Given the description of an element on the screen output the (x, y) to click on. 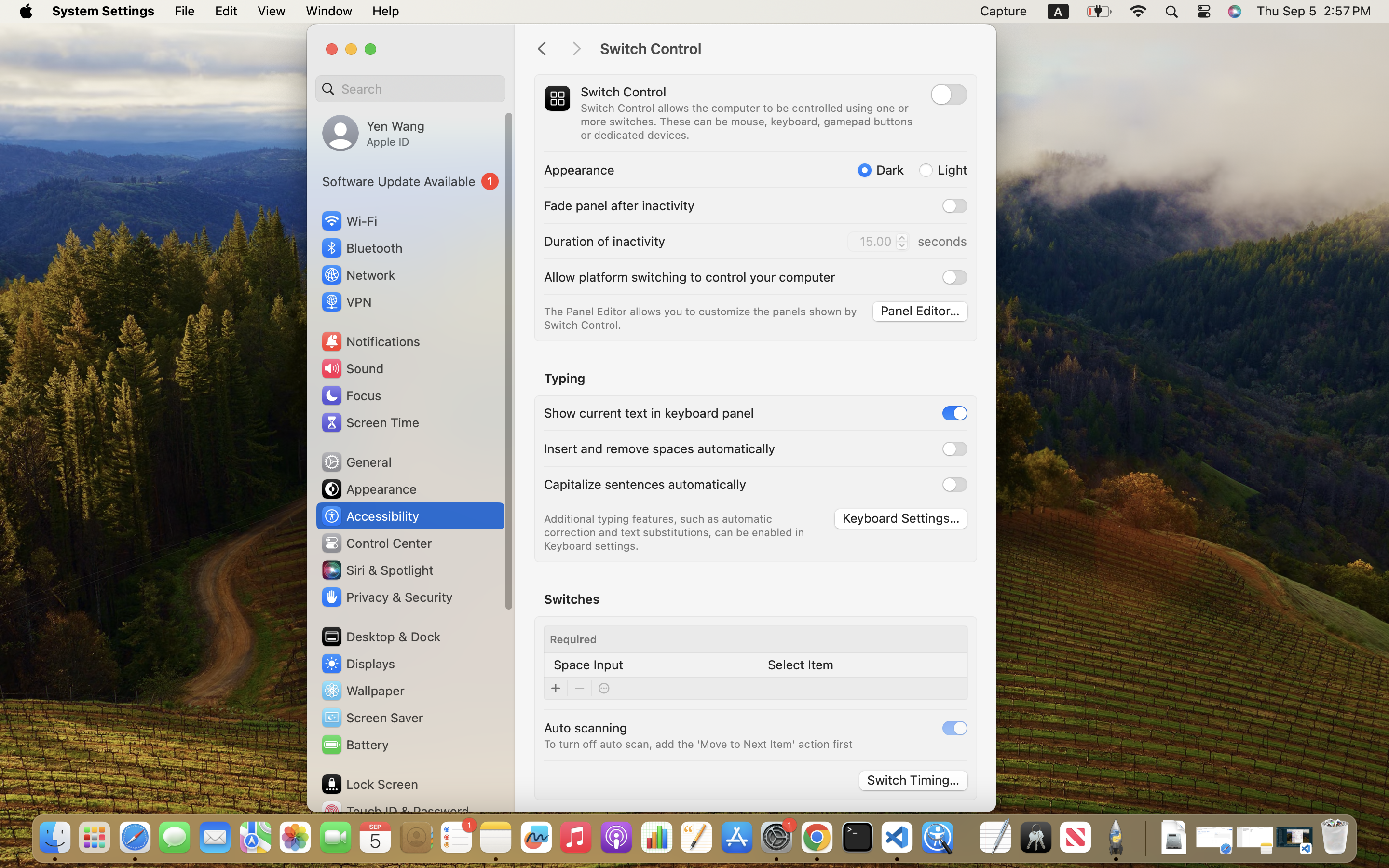
Focus Element type: AXStaticText (350, 394)
Yen Wang, Apple ID Element type: AXStaticText (373, 132)
Desktop & Dock Element type: AXStaticText (380, 636)
Bluetooth Element type: AXStaticText (361, 247)
Screen Time Element type: AXStaticText (369, 422)
